Given the description of an element on the screen output the (x, y) to click on. 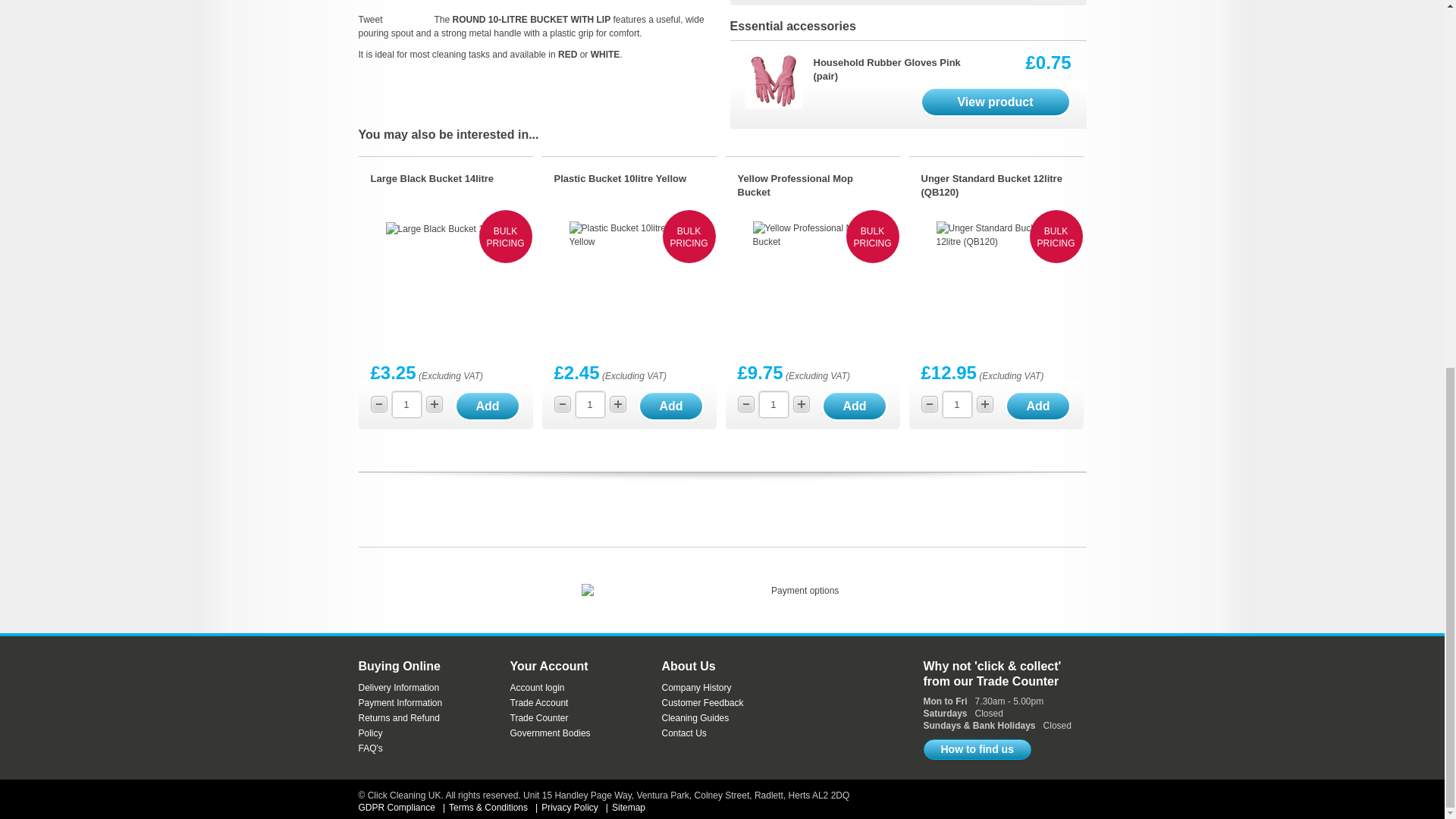
1 (589, 404)
eCommerce web design (1059, 798)
1 (956, 404)
1 (772, 404)
1 (405, 404)
